Given the description of an element on the screen output the (x, y) to click on. 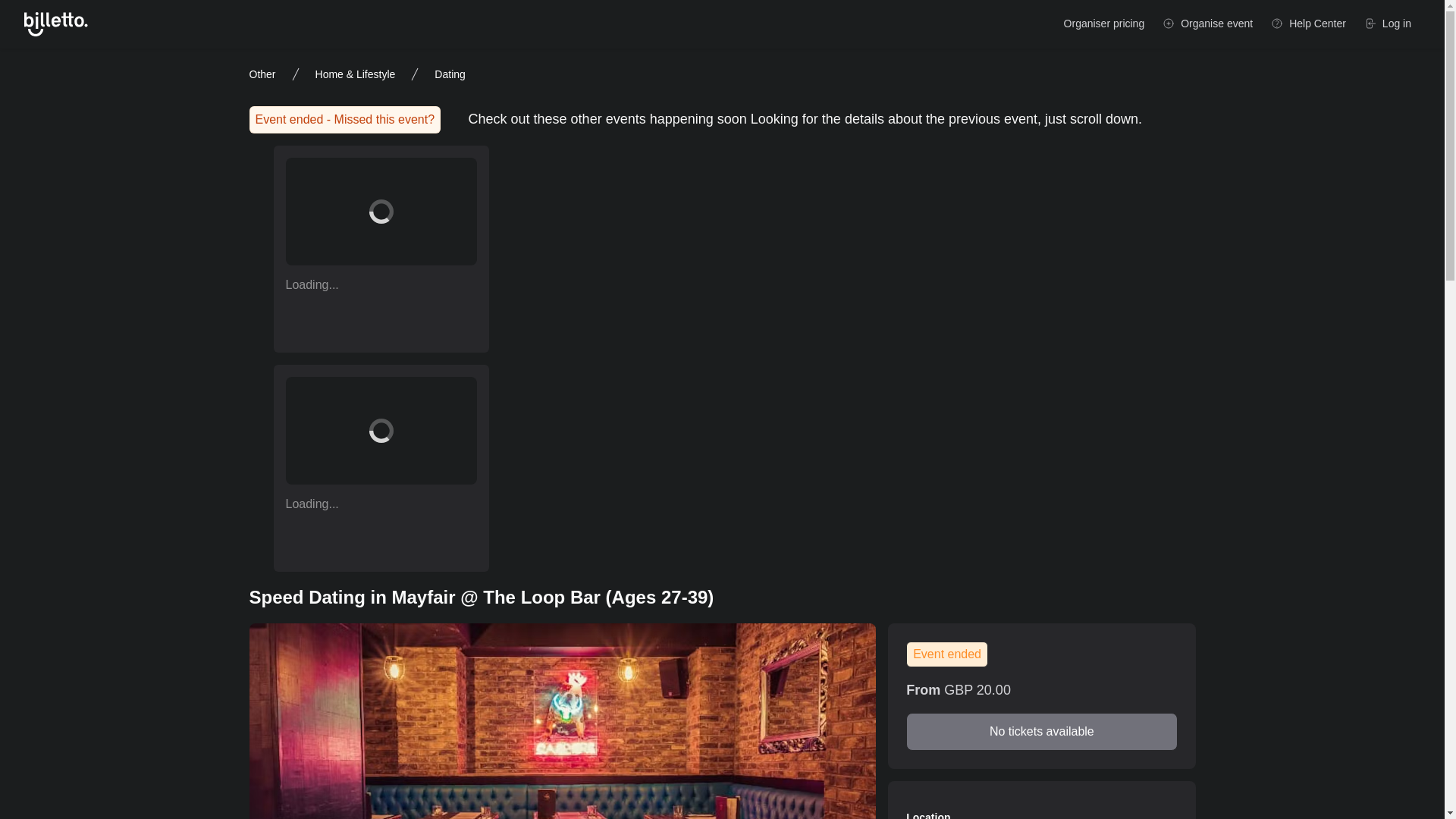
Log in (1388, 23)
Other (261, 73)
Organise event (1207, 23)
Go to Billetto's homepage (55, 24)
Dating (448, 73)
Organiser pricing (1104, 23)
Help Center (1308, 23)
